Given the description of an element on the screen output the (x, y) to click on. 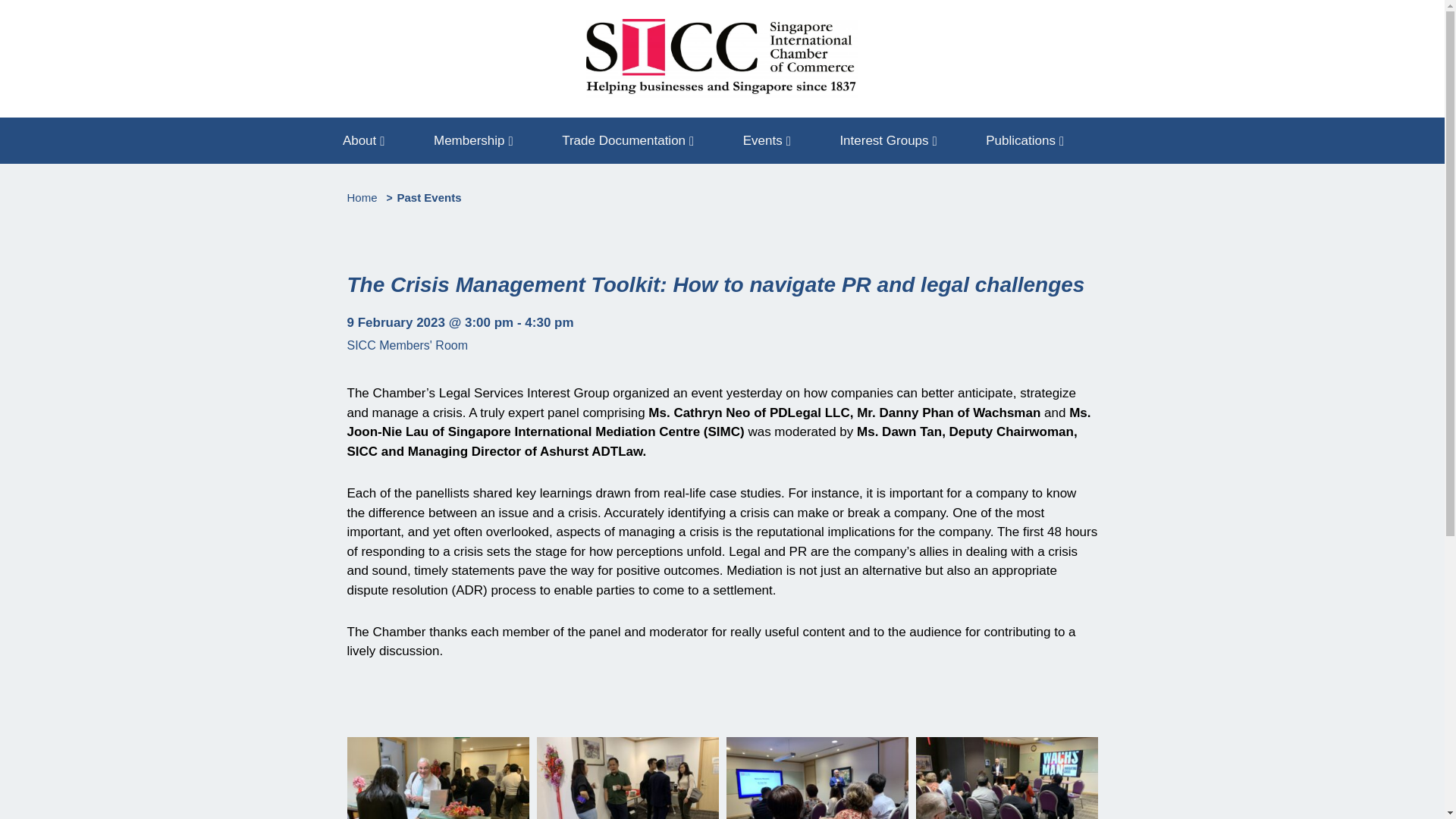
Membership (472, 140)
About (363, 140)
Trade Documentation (627, 140)
